Given the description of an element on the screen output the (x, y) to click on. 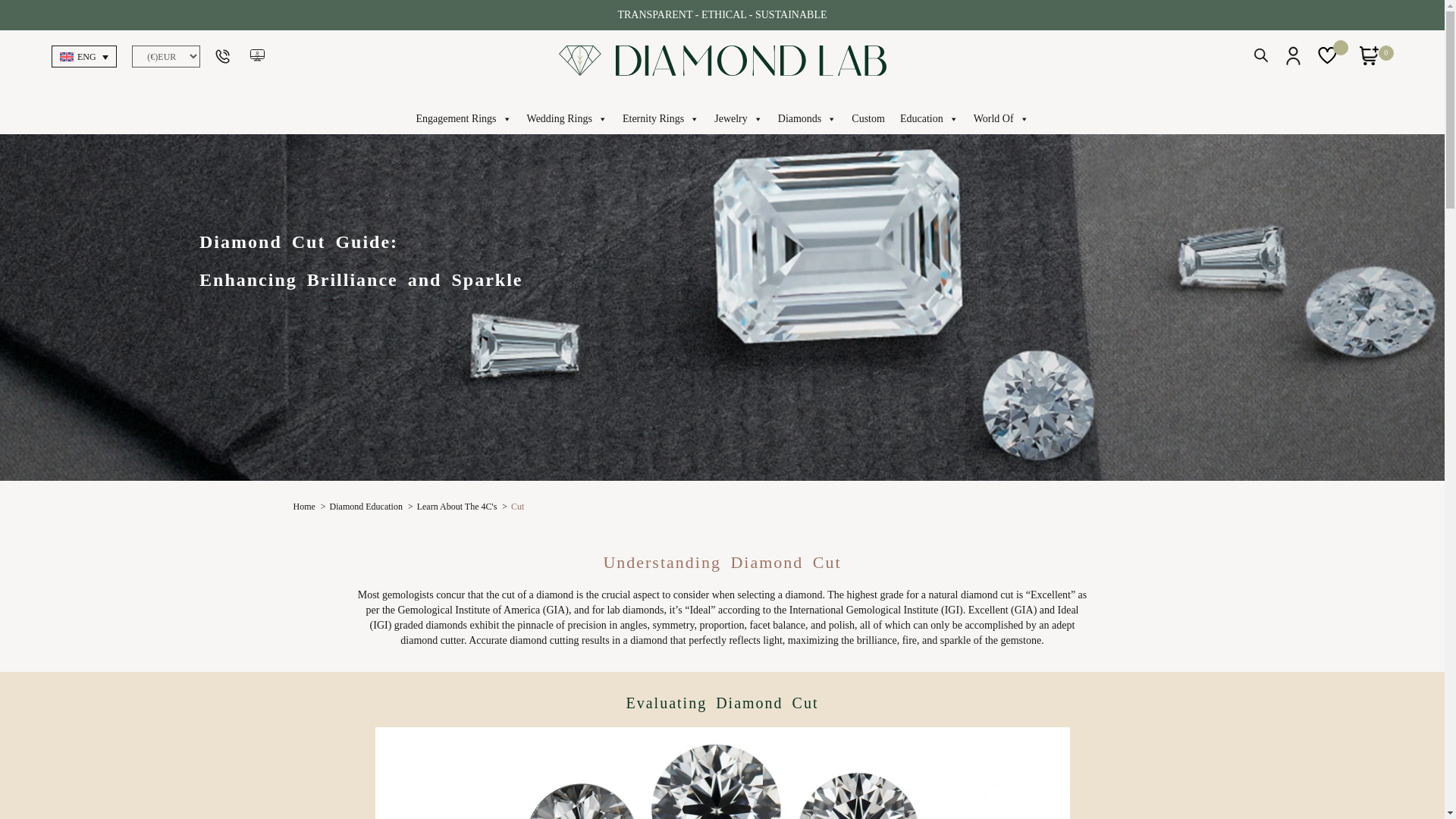
Search (1260, 57)
0 (1368, 61)
Account (1293, 61)
Wishlist (1330, 56)
Book An Appointment (257, 55)
Call Us (224, 55)
Change Currency (166, 56)
Change Language (83, 56)
ENG (83, 56)
Engagement Rings (462, 119)
